Given the description of an element on the screen output the (x, y) to click on. 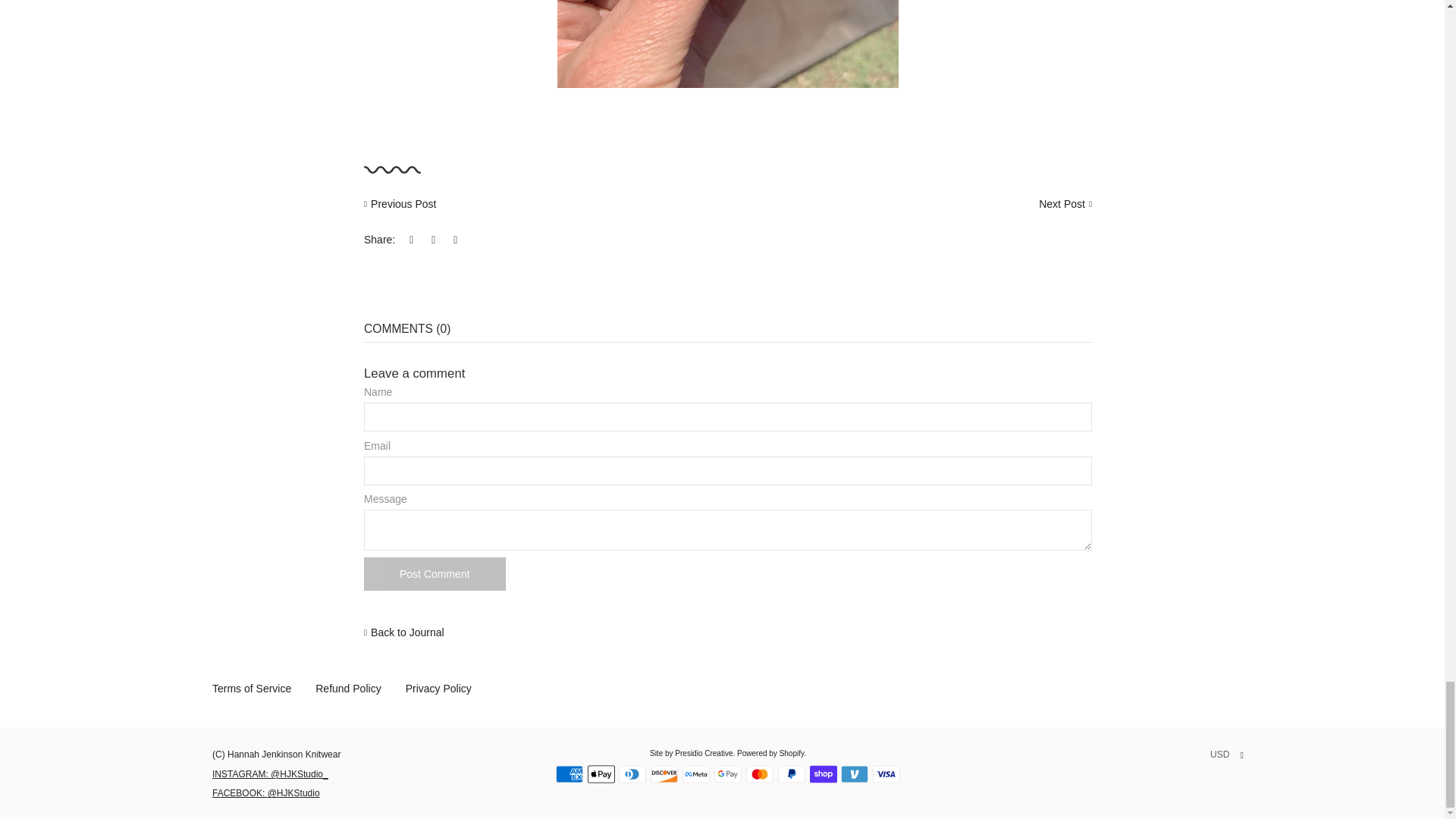
Discover (664, 773)
Diners Club (632, 773)
Mastercard (759, 773)
Venmo (854, 773)
Apple Pay (601, 773)
American Express (569, 773)
Post Comment (434, 573)
Meta Pay (696, 773)
PayPal (791, 773)
Google Pay (727, 773)
Shop Pay (823, 773)
Visa (885, 773)
